Given the description of an element on the screen output the (x, y) to click on. 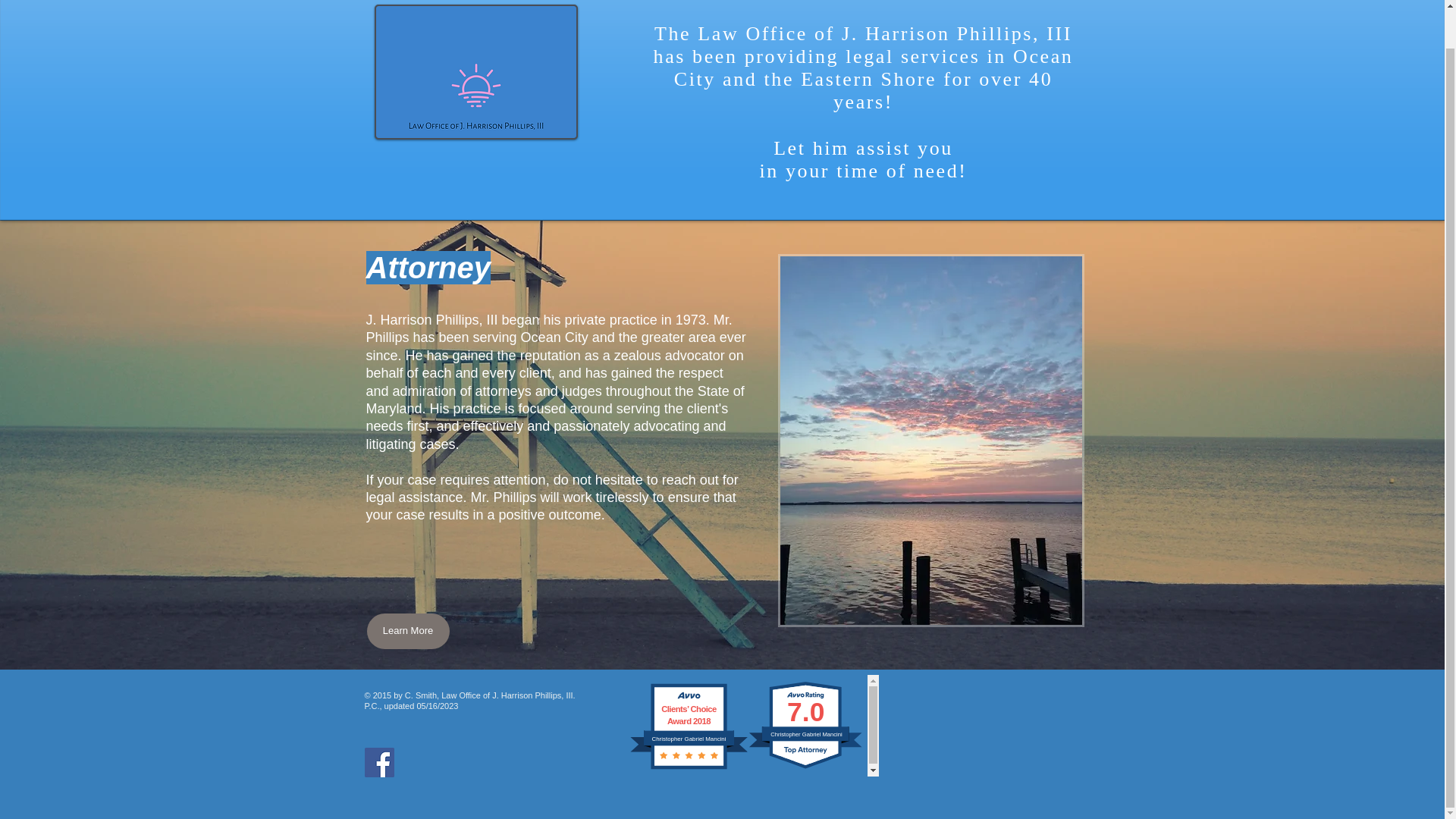
WEB-STAT (1011, 732)
Embedded Content (692, 737)
Learn More (407, 631)
Embedded Content (810, 725)
Facebook Like (507, 766)
